Given the description of an element on the screen output the (x, y) to click on. 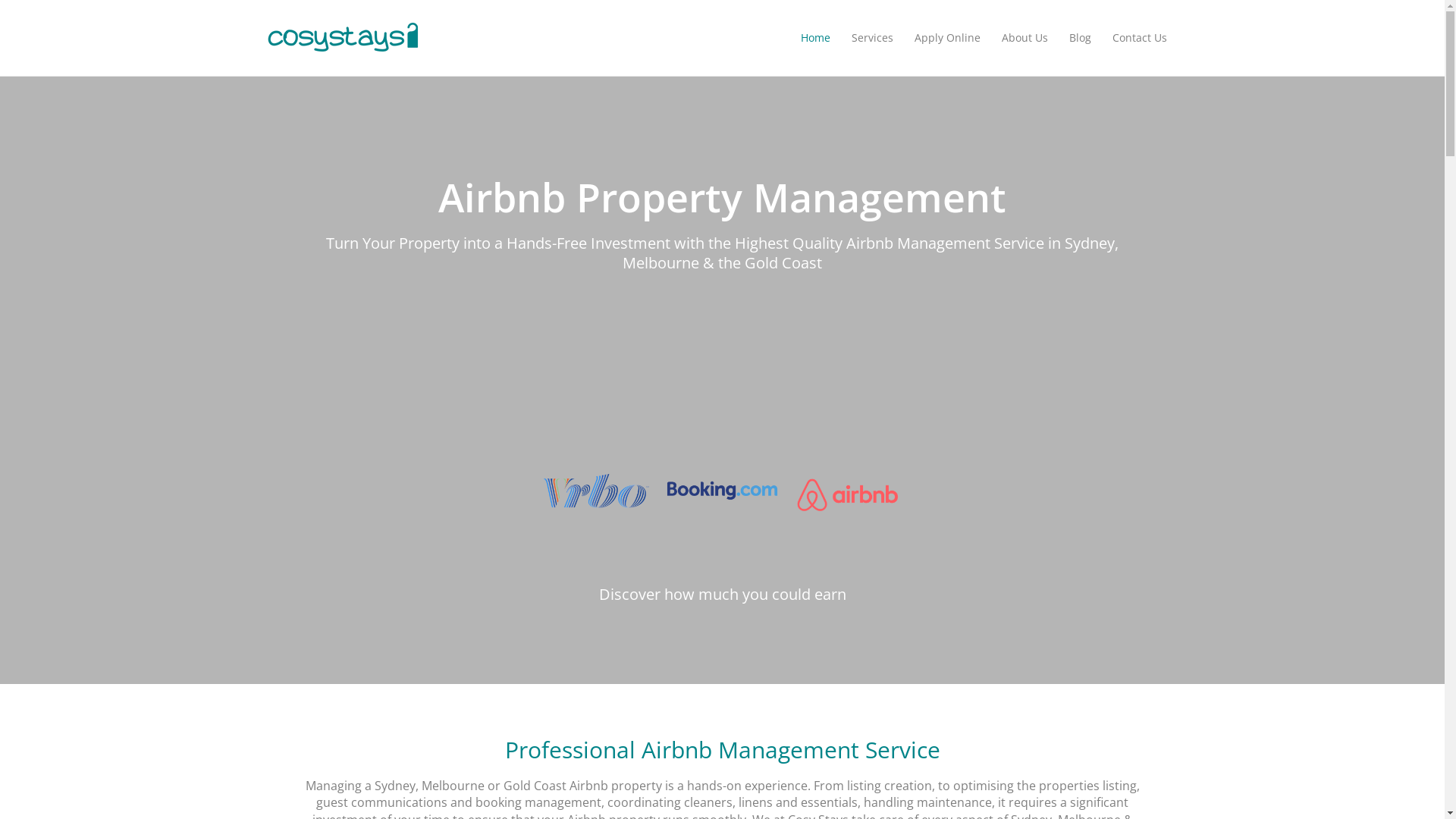
Contact Us Element type: text (1138, 37)
Airbnb Property Management Sydney Melbourne Element type: hover (595, 498)
Services Element type: text (871, 37)
Airbnb Property Management Sydney Melbourne Element type: hover (848, 498)
About Us Element type: text (1023, 37)
Home Element type: text (815, 37)
Blog Element type: text (1079, 37)
Airbnb Property Management Sydney Melbourne Element type: hover (722, 498)
Apply Online Element type: text (947, 37)
